Given the description of an element on the screen output the (x, y) to click on. 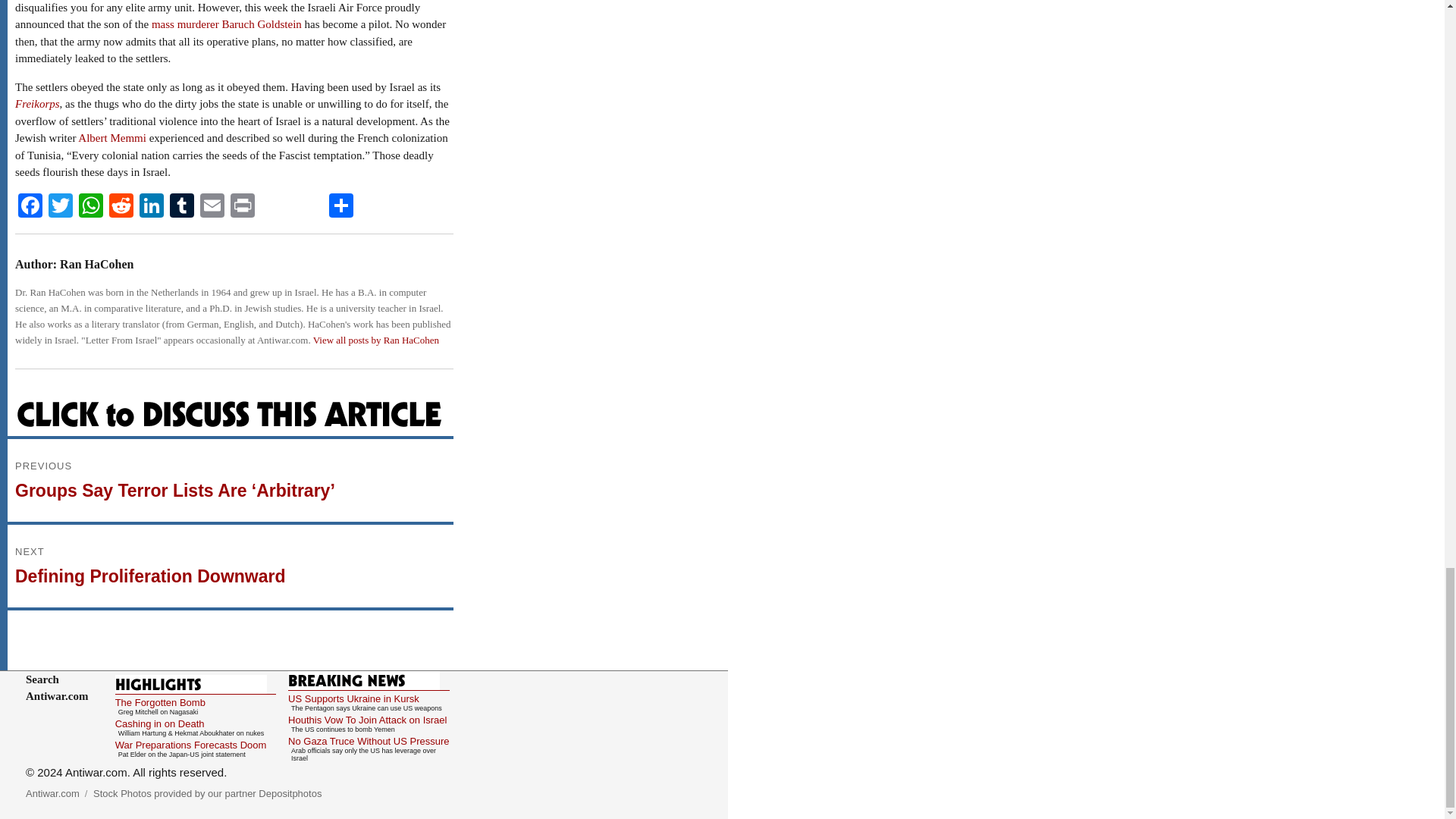
Tumblr (181, 207)
Reddit (121, 207)
Freikorps (36, 103)
Albert Memmi (112, 137)
Print (242, 207)
mass murderer Baruch Goldstein (226, 24)
Facebook (29, 207)
Facebook (29, 207)
Twitter (60, 207)
WhatsApp (90, 207)
